Given the description of an element on the screen output the (x, y) to click on. 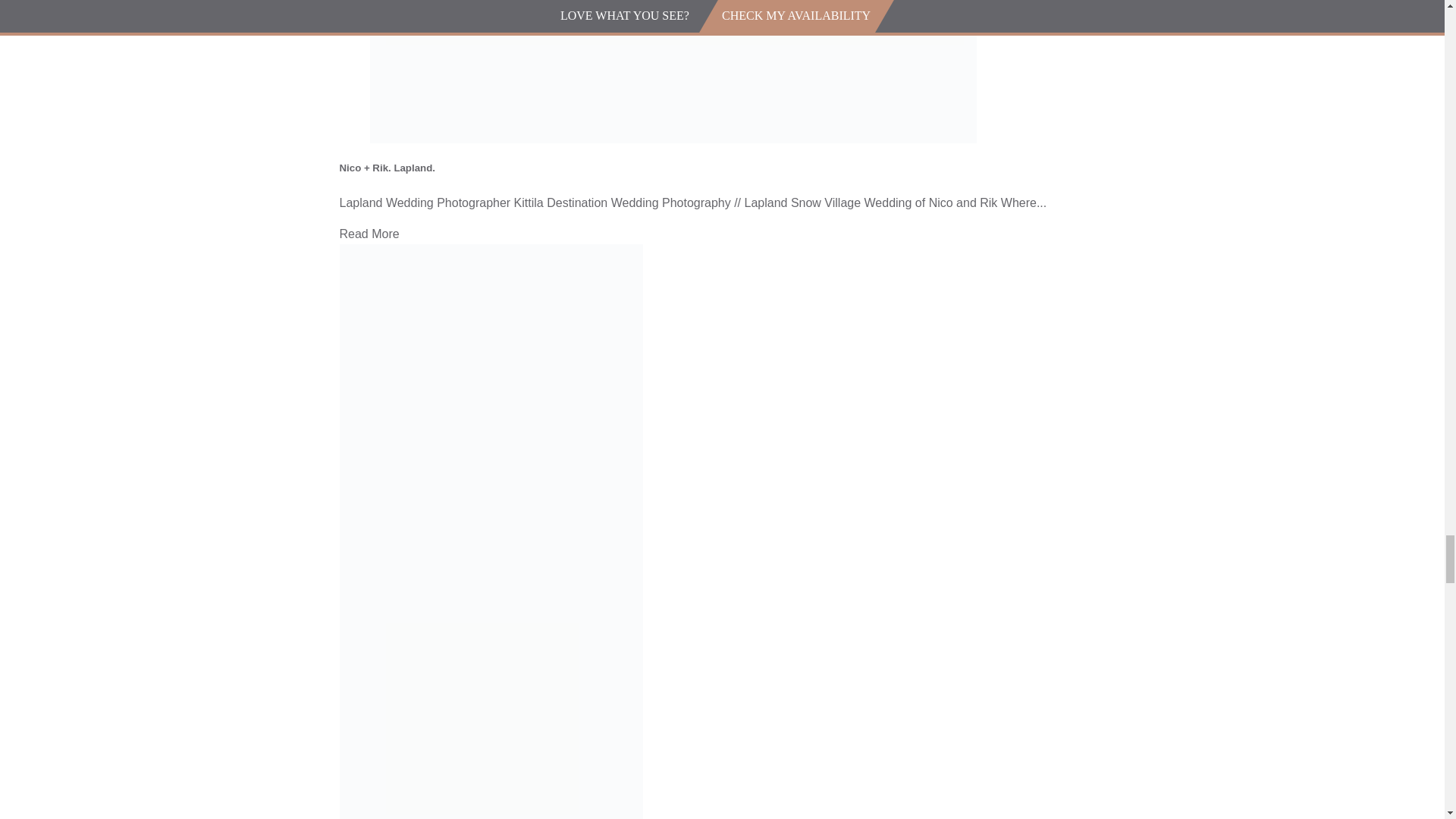
Read More (368, 233)
Lapland wedding photographer finland (672, 71)
